Given the description of an element on the screen output the (x, y) to click on. 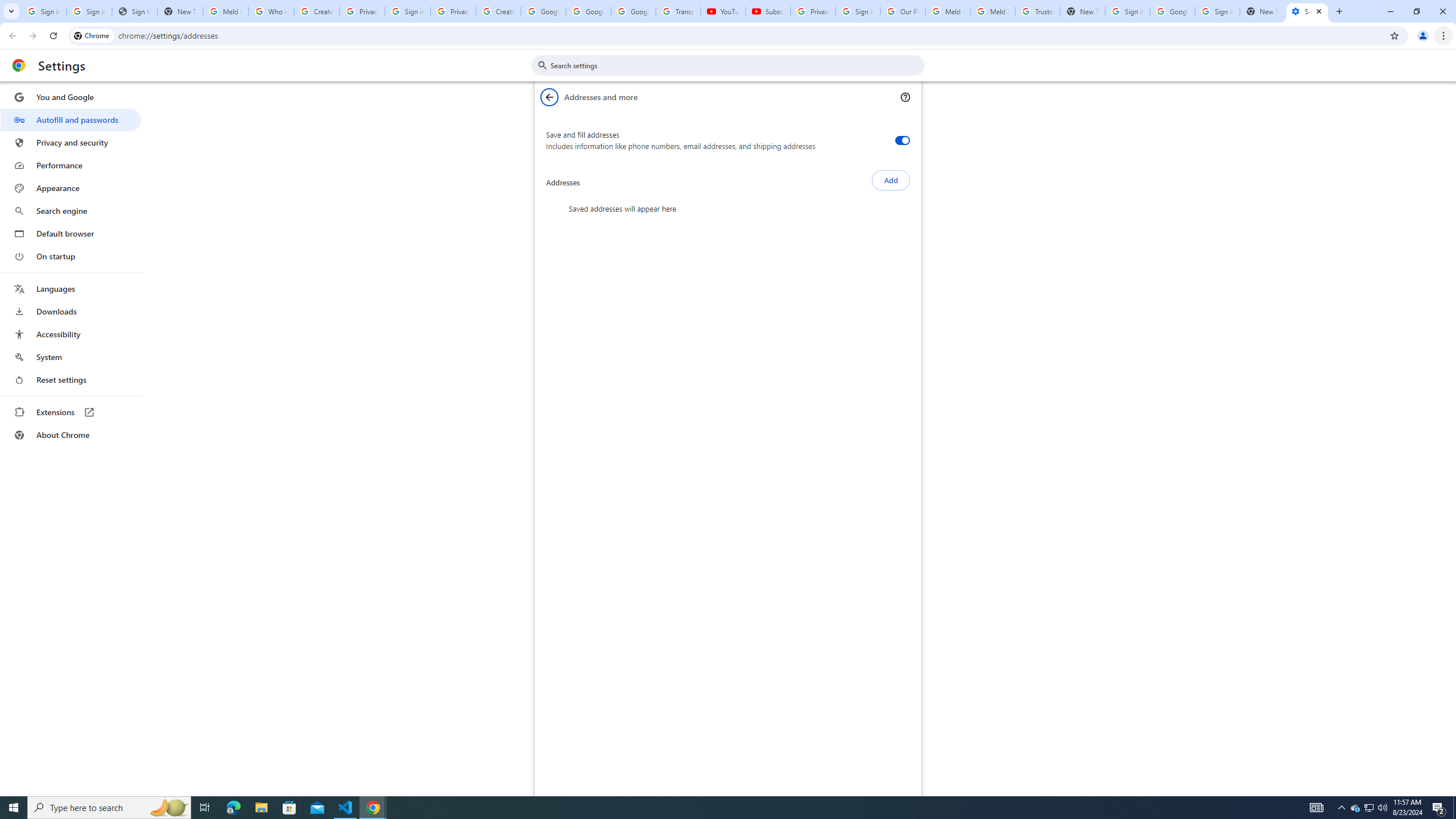
New Tab (1262, 11)
Settings - Addresses and more (1307, 11)
Create your Google Account (497, 11)
Reset settings (70, 379)
Sign in - Google Accounts (43, 11)
Trusted Information and Content - Google Safety Center (1037, 11)
Sign in - Google Accounts (1126, 11)
AutomationID: menu (71, 265)
